Given the description of an element on the screen output the (x, y) to click on. 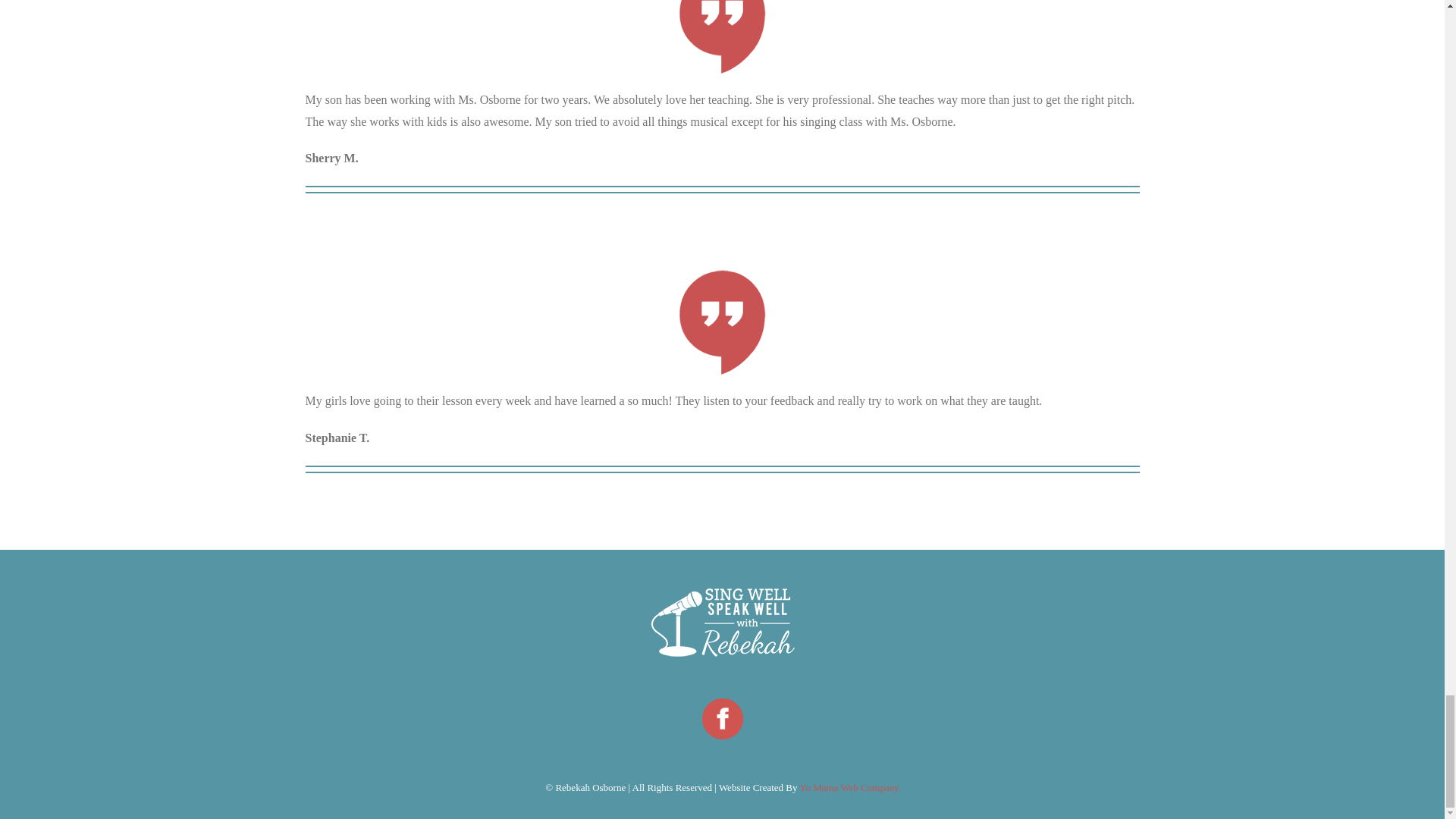
Sing Well With Rebekah on Facebook (721, 718)
Yo Mama Web Company (848, 787)
